Given the description of an element on the screen output the (x, y) to click on. 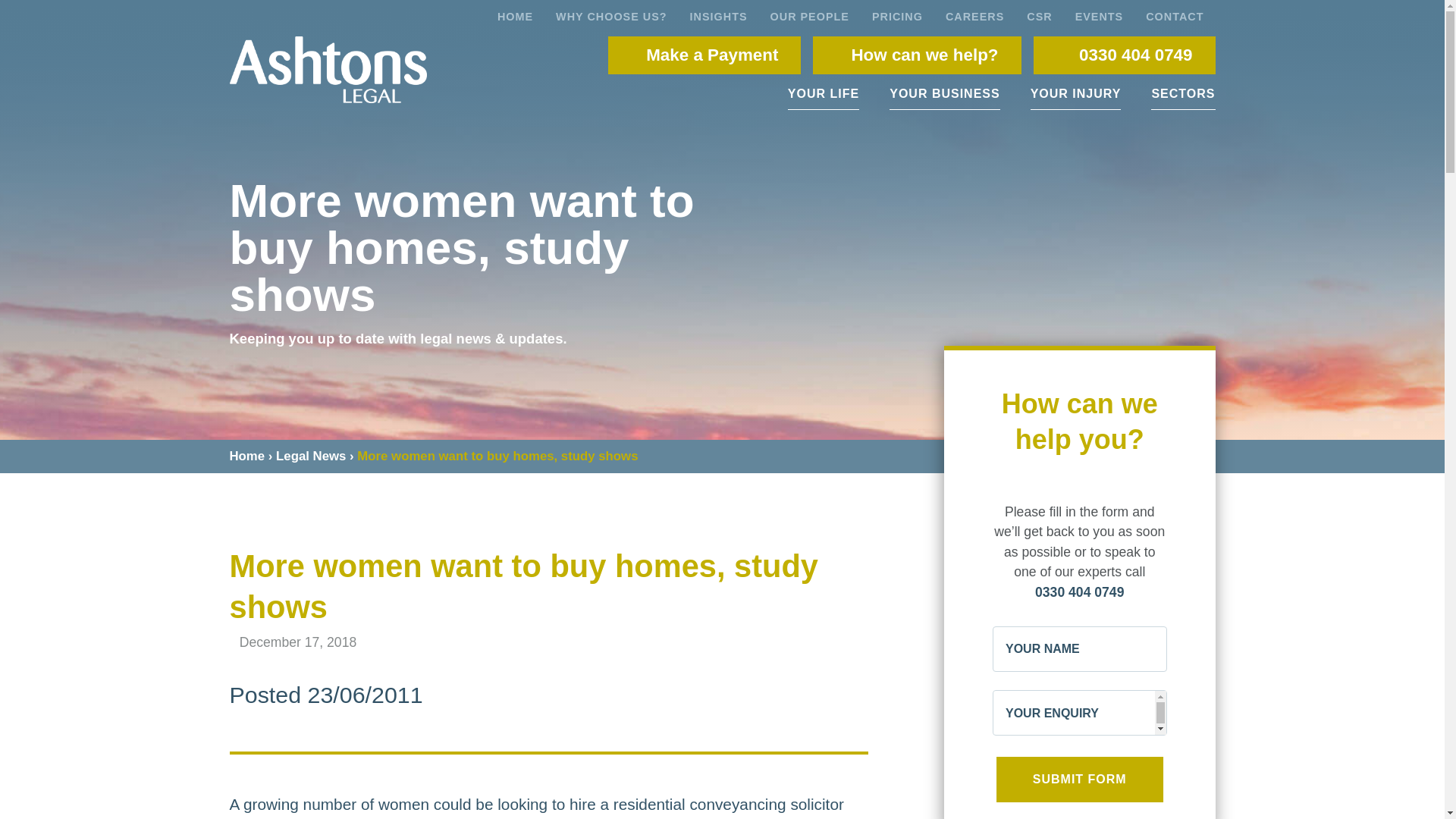
How can we help? (916, 55)
CONTACT (1174, 15)
CSR (1038, 15)
PRICING (897, 15)
INSIGHTS (718, 15)
Make a Payment (704, 55)
OUR PEOPLE (809, 15)
EVENTS (1099, 15)
Submit form (1079, 779)
CAREERS (974, 15)
